Given the description of an element on the screen output the (x, y) to click on. 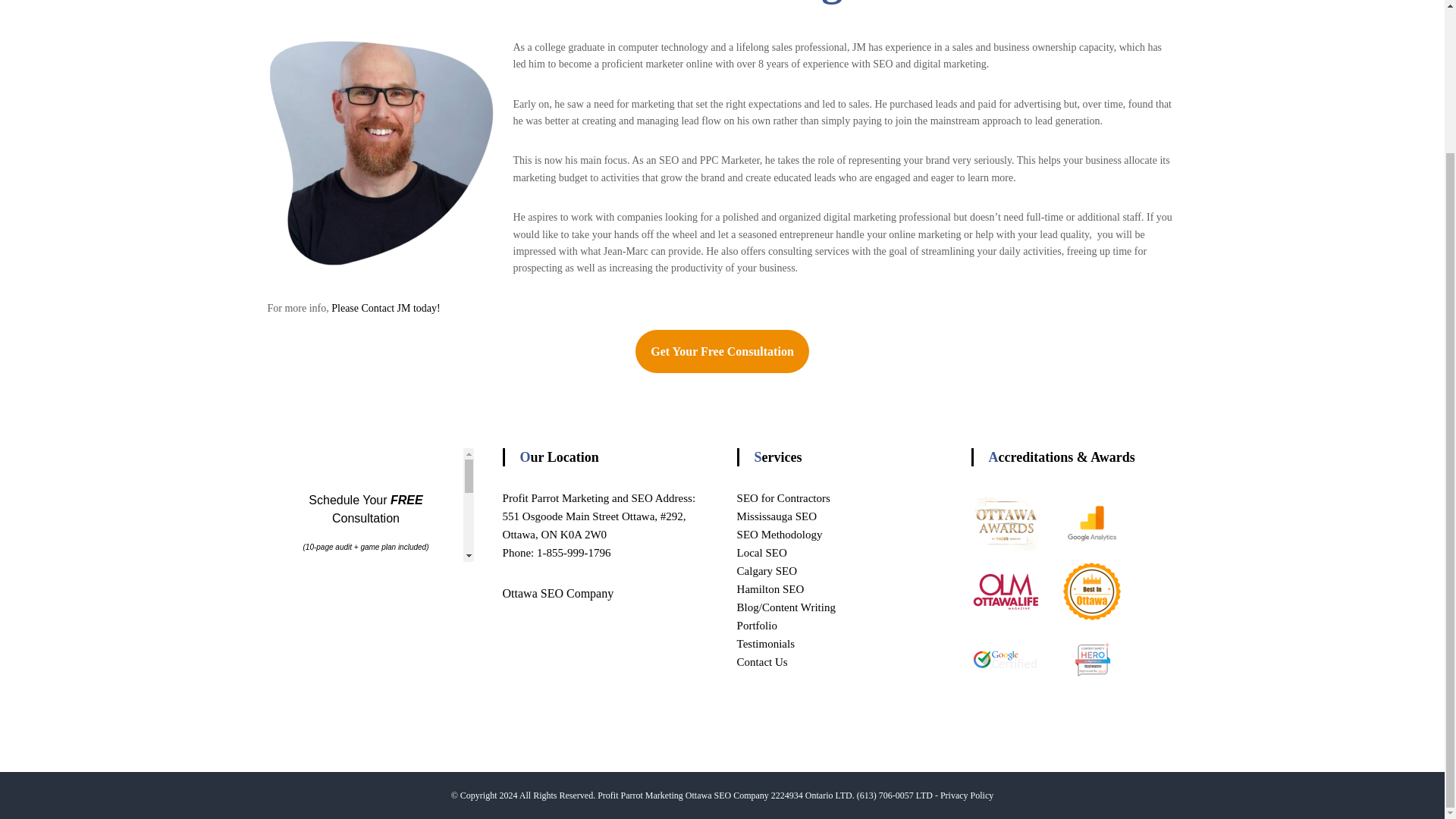
Jean-Marc Begin  (380, 152)
local seo ottawa surly (1091, 659)
